Given the description of an element on the screen output the (x, y) to click on. 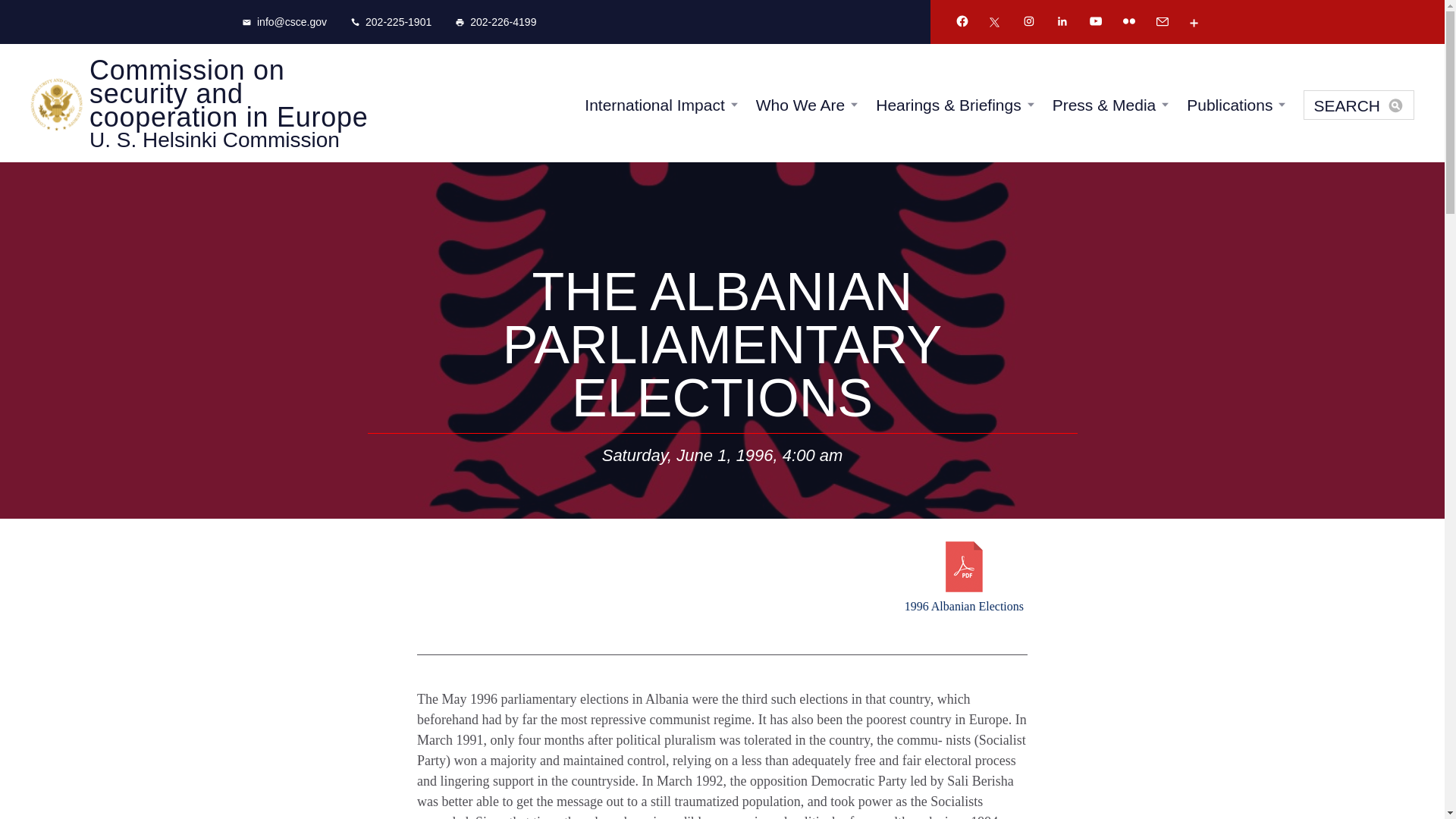
International Impact (654, 104)
Who We Are (800, 104)
Publications (1229, 104)
202-225-1901 (390, 21)
